Given the description of an element on the screen output the (x, y) to click on. 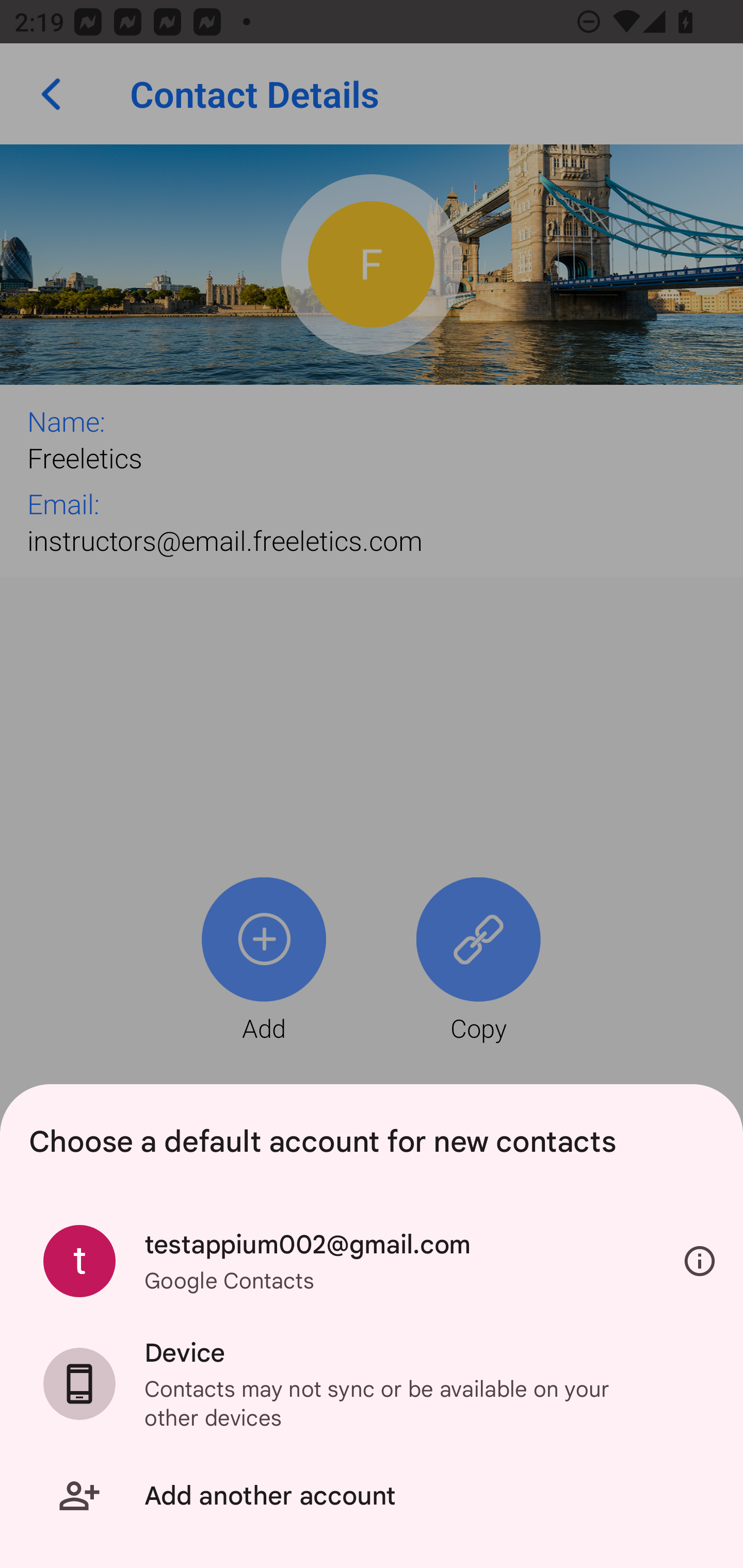
Information about account type (699, 1261)
Add another account (371, 1495)
